Given the description of an element on the screen output the (x, y) to click on. 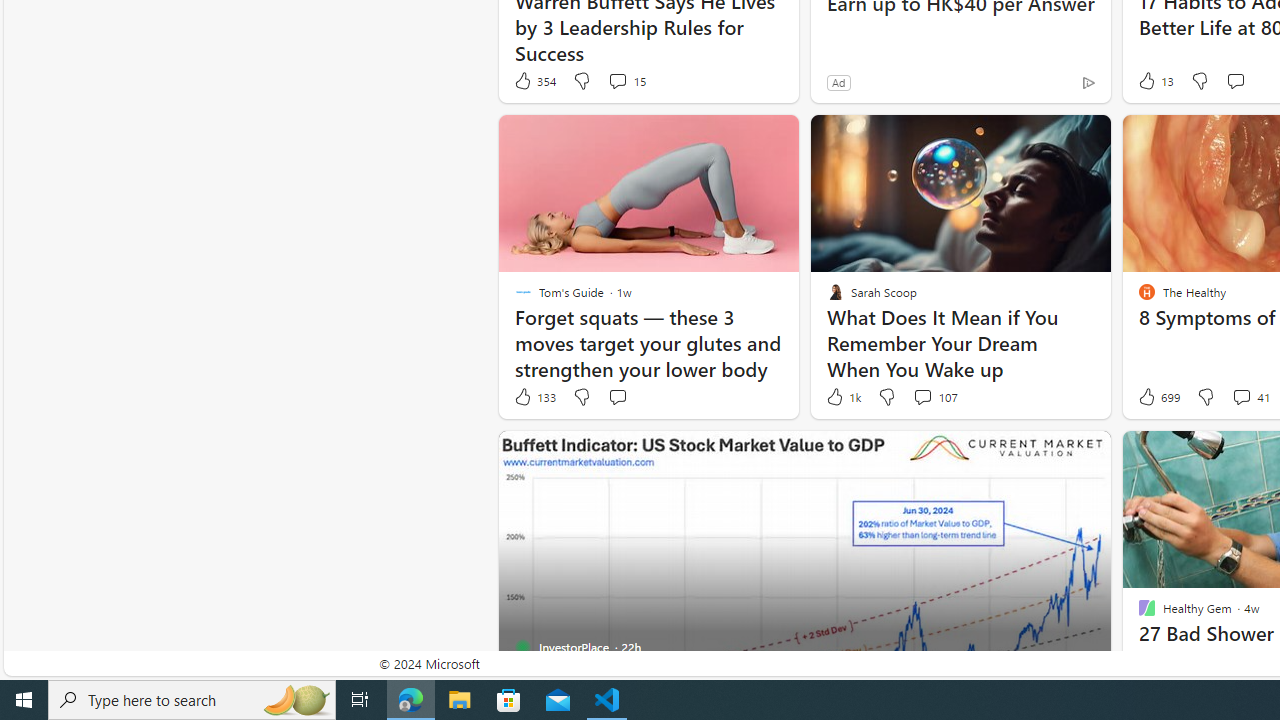
View comments 41 Comment (1241, 396)
View comments 107 Comment (934, 397)
13 Like (1154, 80)
